Given the description of an element on the screen output the (x, y) to click on. 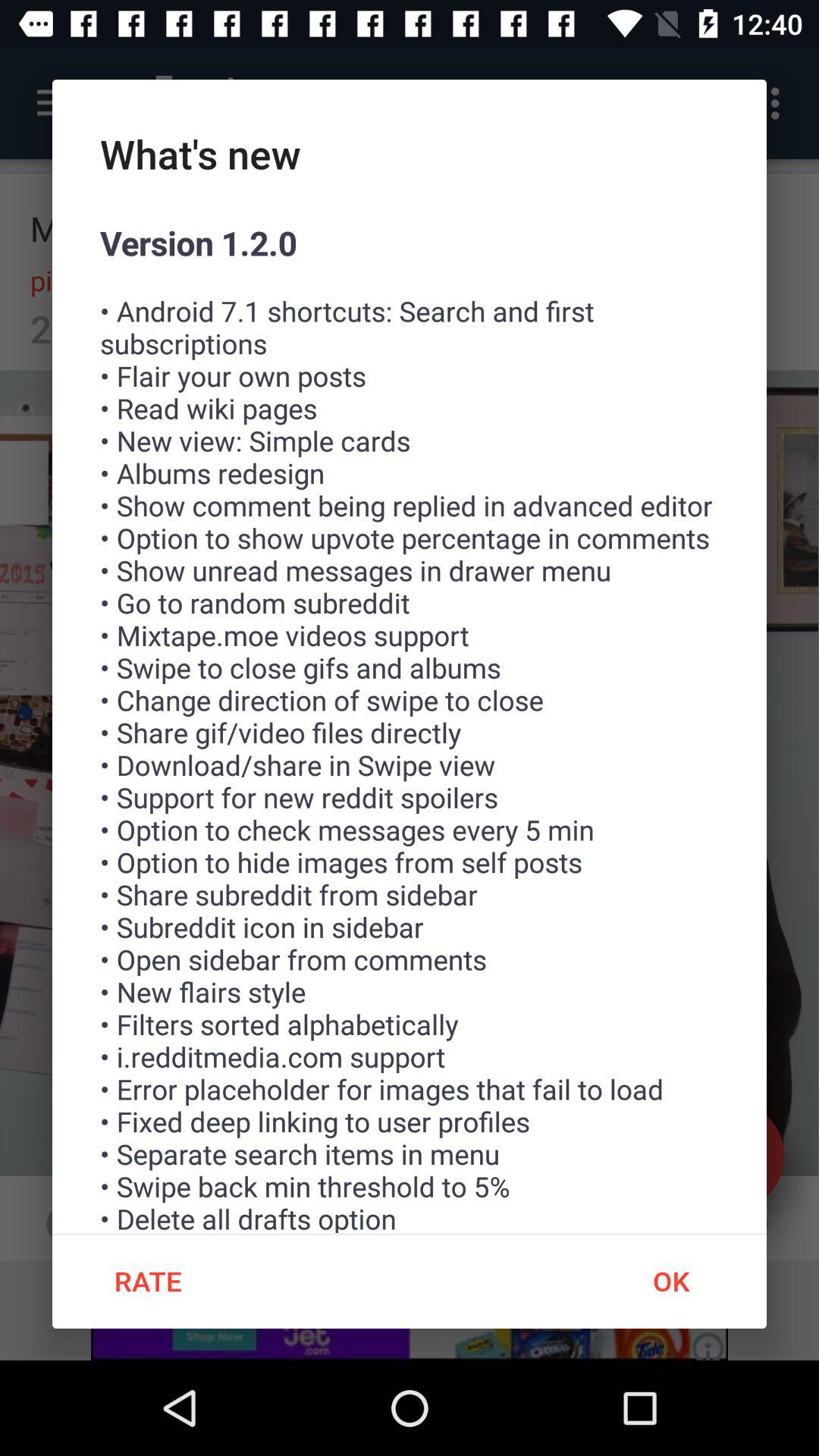
swipe to the version 1 2 icon (409, 726)
